Given the description of an element on the screen output the (x, y) to click on. 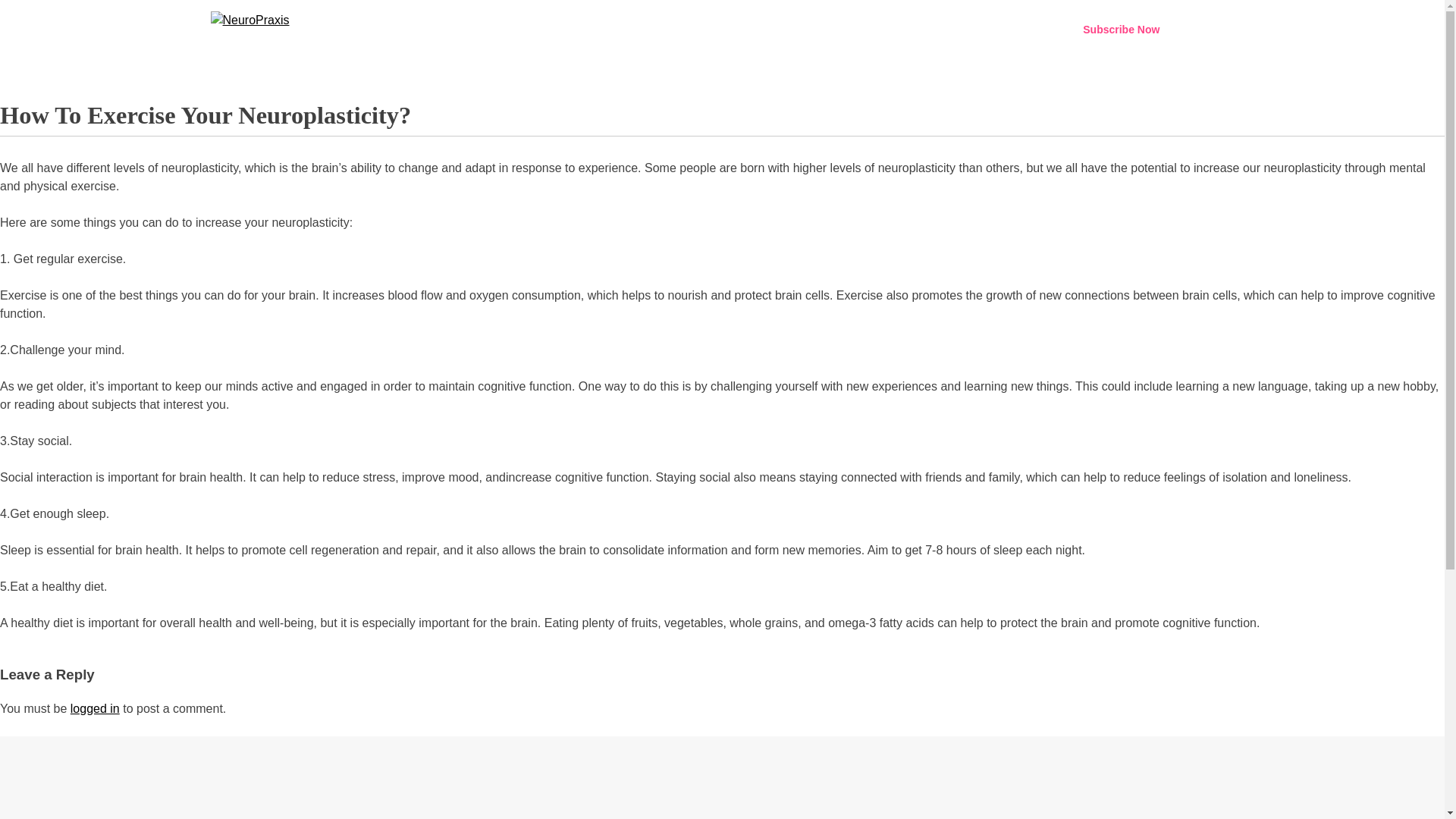
How it Works (939, 29)
Subscription (861, 29)
logged in (94, 707)
NeuroPraxis (244, 50)
Our Story (1012, 29)
Subscribe Now (1120, 28)
Login (1214, 28)
Framework (785, 29)
